Given the description of an element on the screen output the (x, y) to click on. 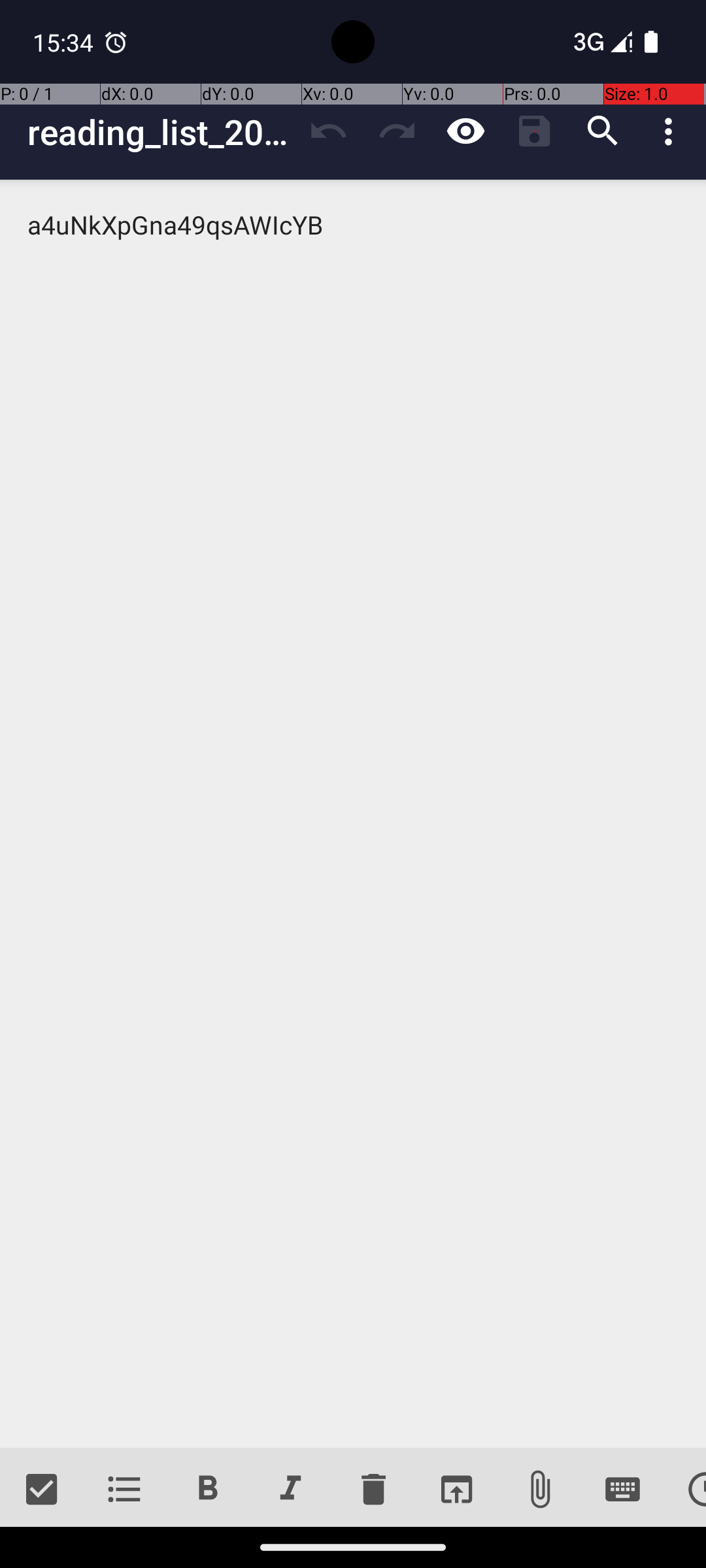
reading_list_2024_2023_09_17 Element type: android.widget.TextView (160, 131)
a4uNkXpGna49qsAWIcYB
 Element type: android.widget.EditText (353, 813)
